Given the description of an element on the screen output the (x, y) to click on. 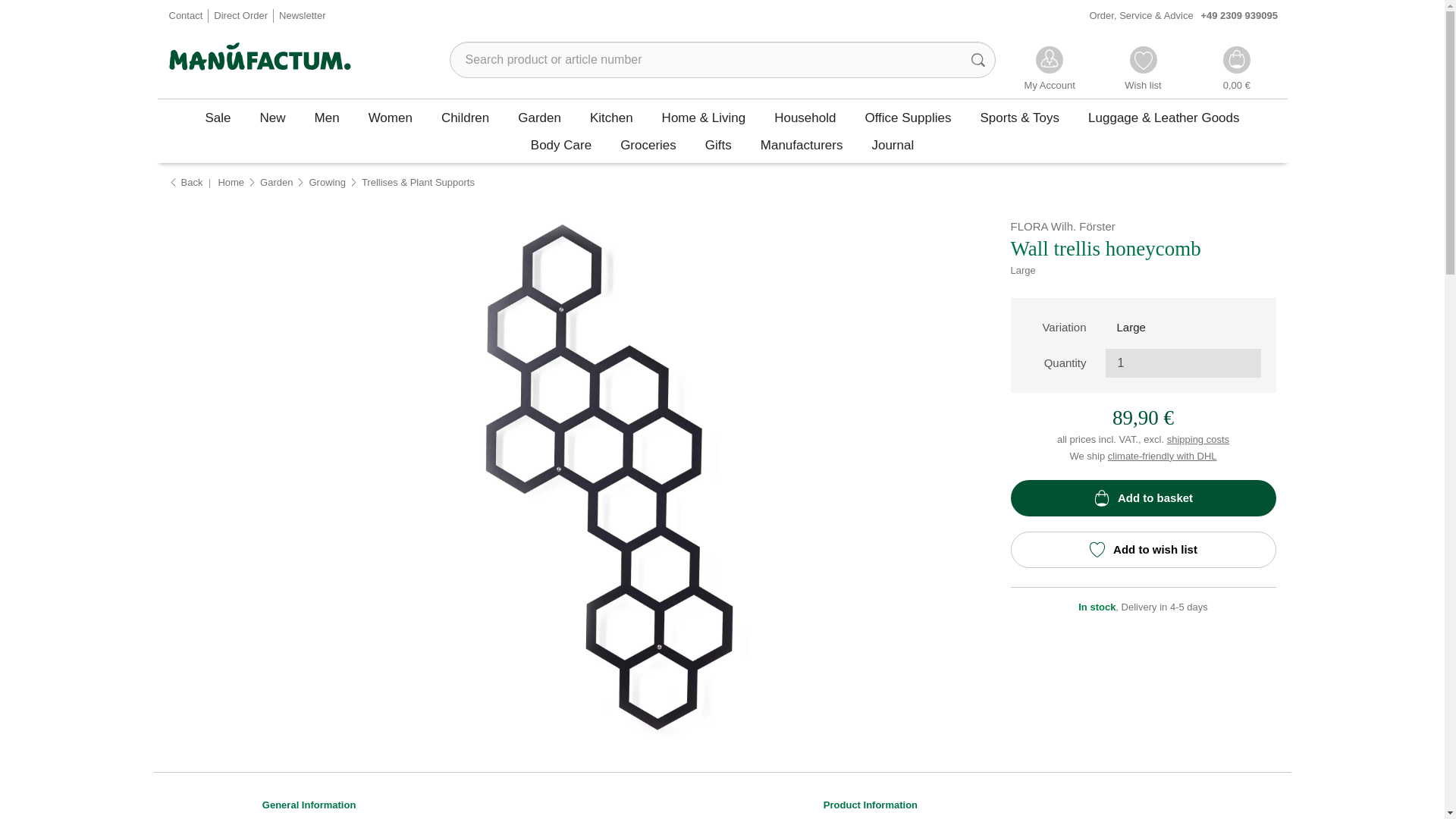
Newsletter (301, 16)
1 (1182, 362)
Women (389, 117)
Men (326, 117)
Sale (218, 117)
Direct Order (240, 16)
New (272, 117)
Household (805, 117)
Kitchen (611, 117)
My Account (1049, 69)
